Given the description of an element on the screen output the (x, y) to click on. 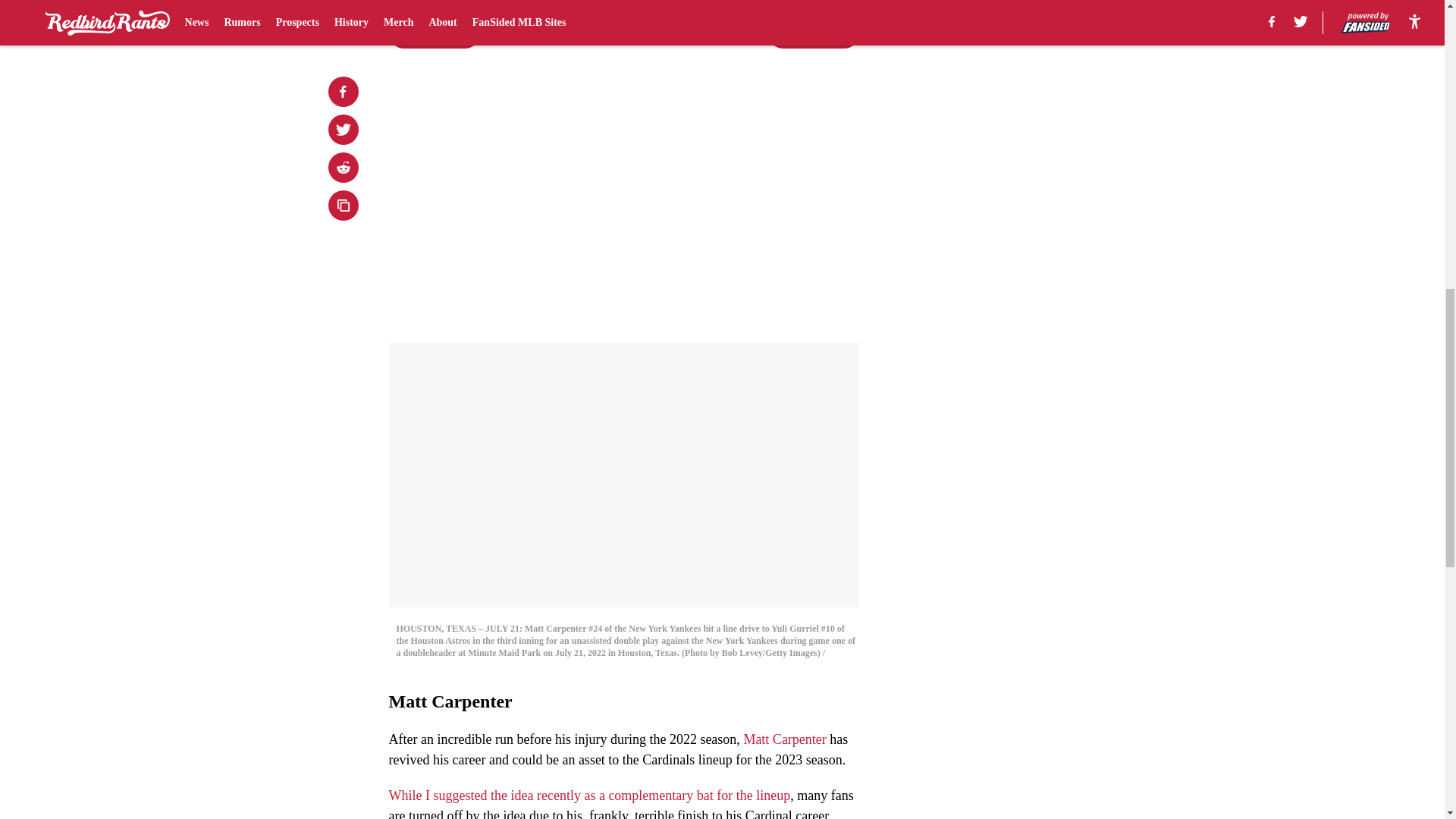
Next (813, 33)
Prev (433, 33)
Matt Carpenter (783, 739)
